Given the description of an element on the screen output the (x, y) to click on. 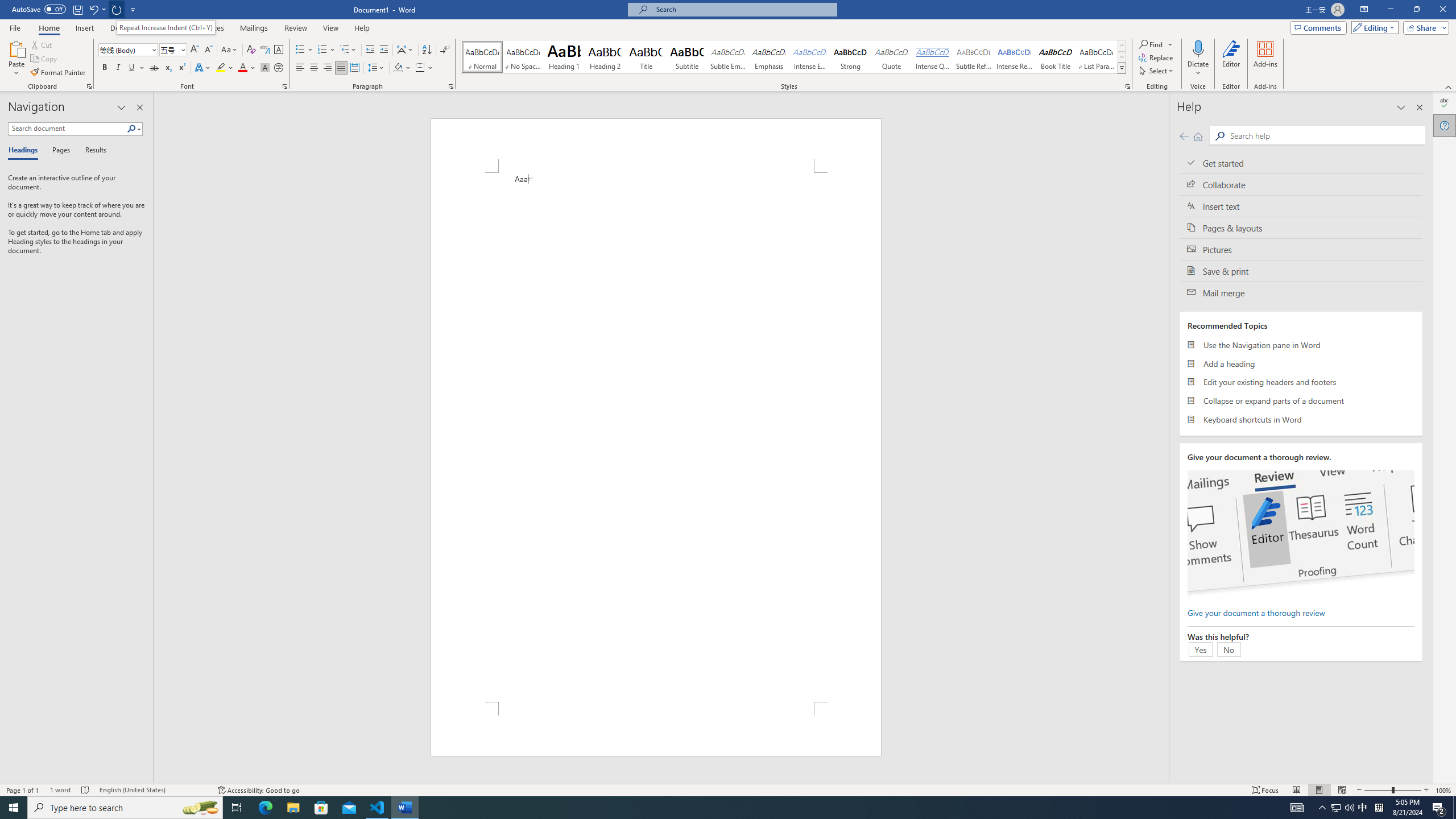
Collaborate (1300, 184)
Subtle Emphasis (727, 56)
Title (646, 56)
Save & print (1300, 270)
Font Color Red (241, 67)
